Given the description of an element on the screen output the (x, y) to click on. 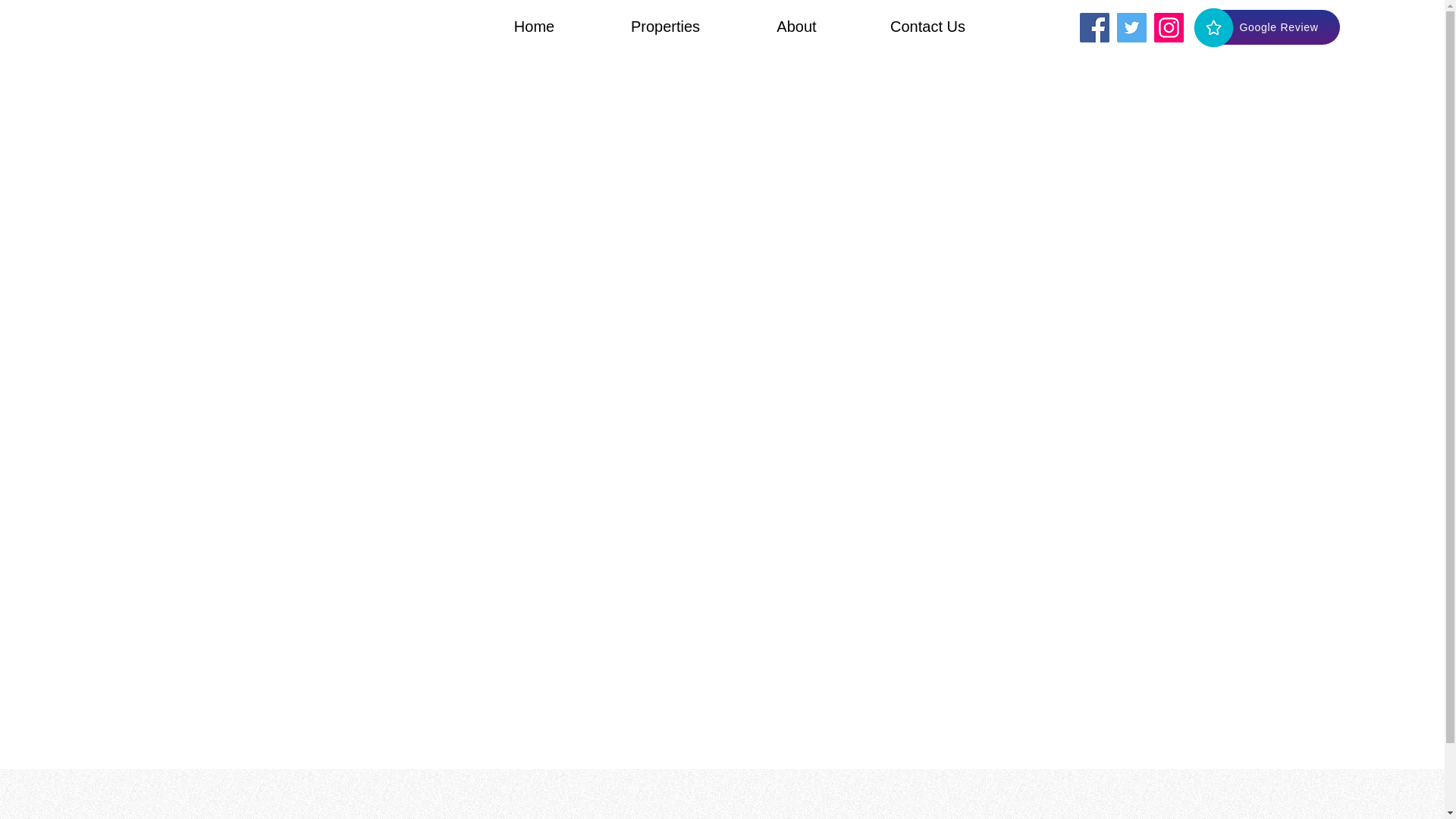
Contact Us (926, 26)
About (795, 26)
Home (533, 26)
Google Review (1267, 27)
